Given the description of an element on the screen output the (x, y) to click on. 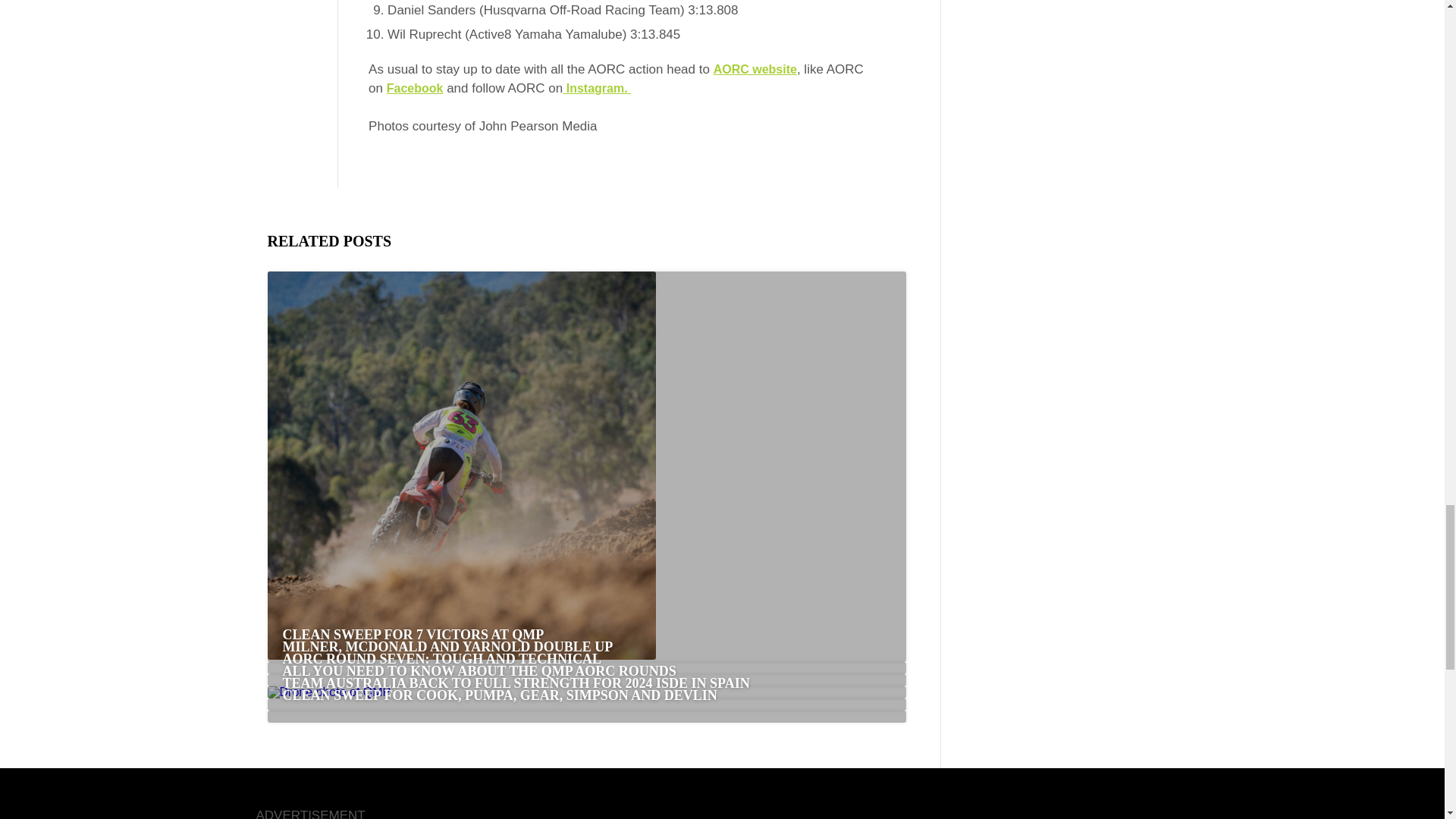
Facebook (415, 88)
AORC website (754, 69)
 Instagram.  (596, 88)
